Given the description of an element on the screen output the (x, y) to click on. 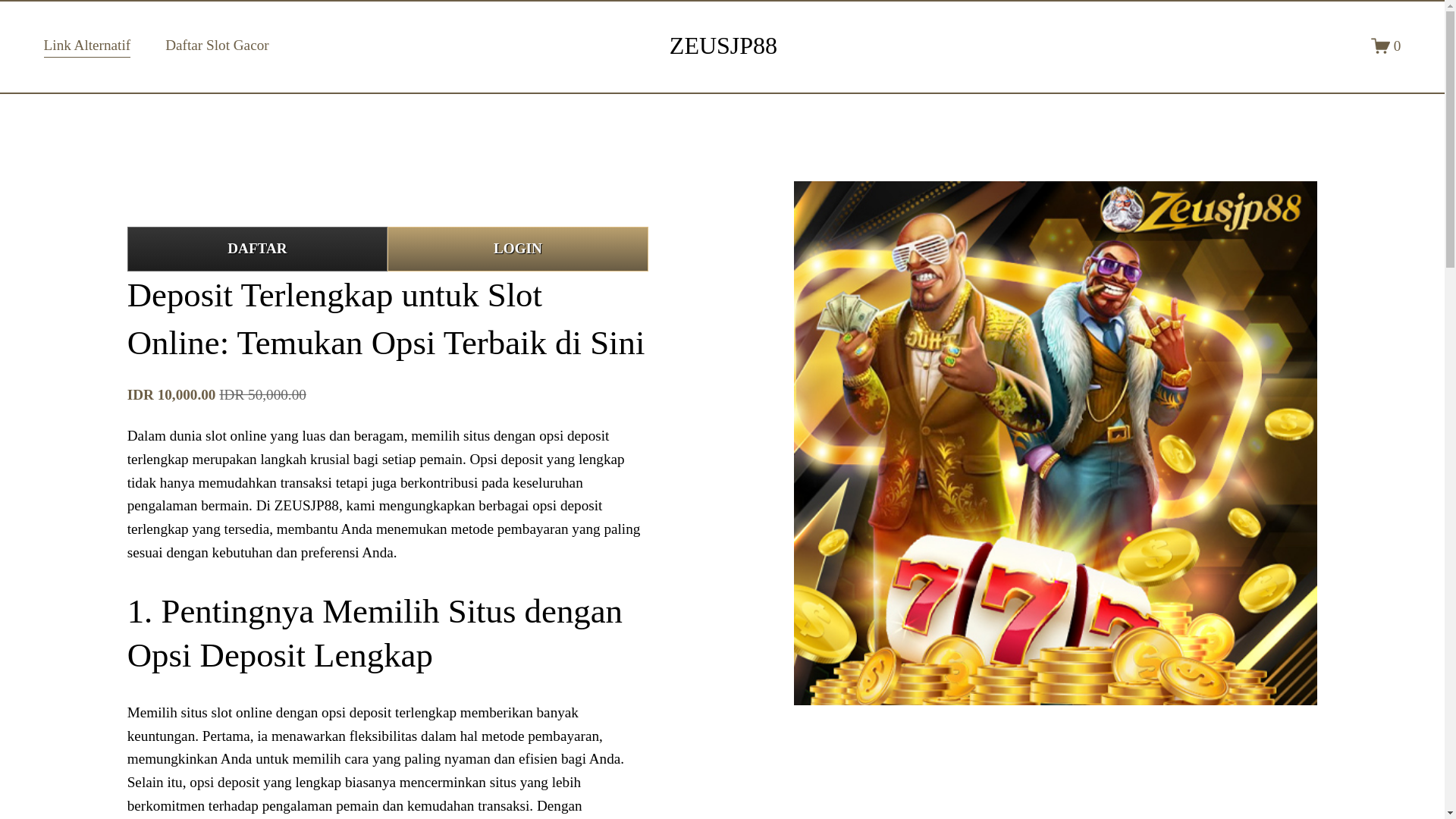
DAFTAR (257, 248)
LOGIN (517, 248)
ZEUSJP88 (723, 44)
Daftar Slot Gacor (216, 46)
0 (1385, 45)
Link Alternatif (87, 46)
